Given the description of an element on the screen output the (x, y) to click on. 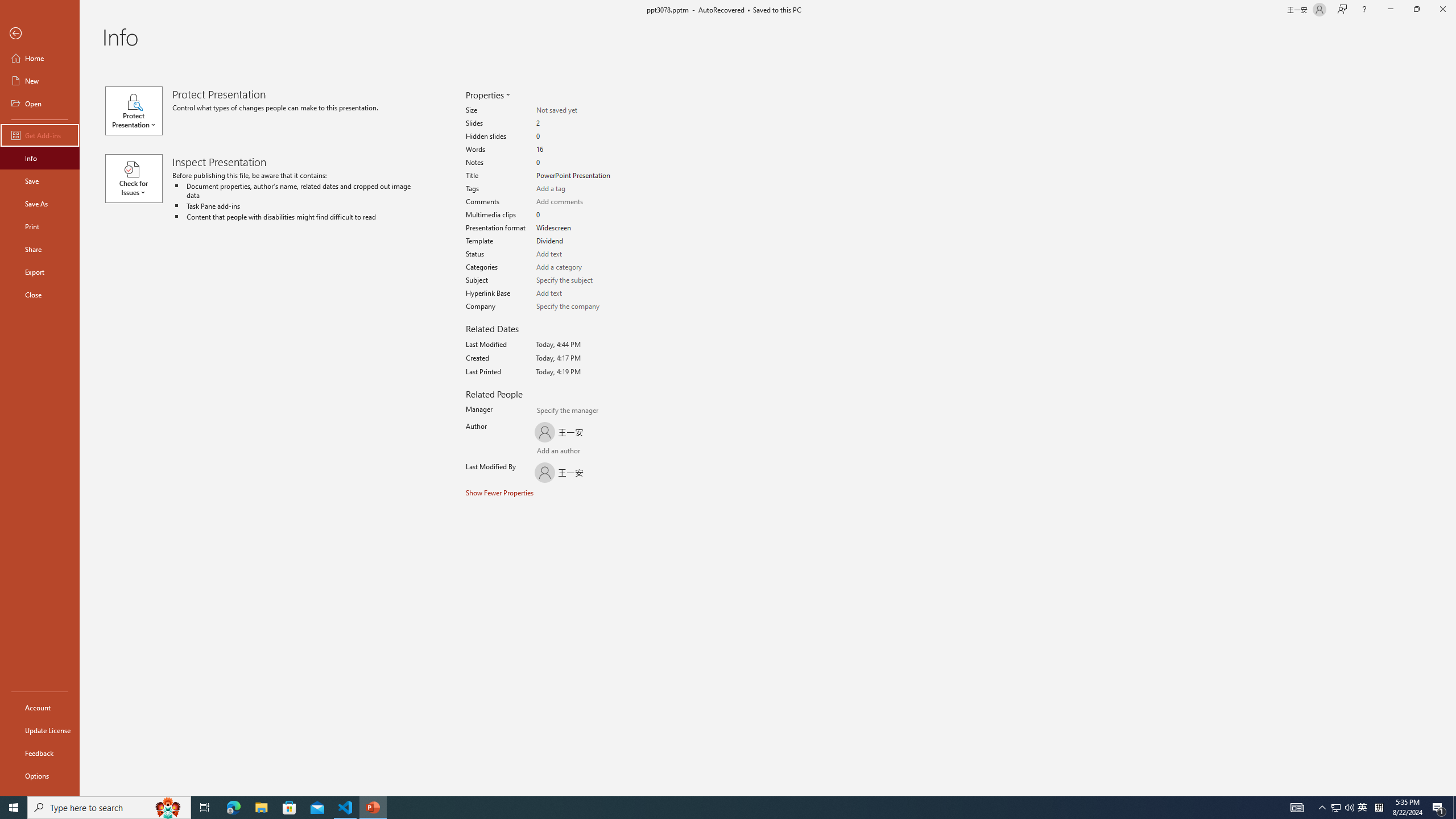
Hyperlink Base (575, 293)
Browse Address Book (595, 451)
Account (40, 707)
Protect Presentation (137, 110)
Specify the manager (542, 411)
Slides (575, 123)
Hidden slides (575, 136)
Back (40, 33)
Notes (575, 162)
